Given the description of an element on the screen output the (x, y) to click on. 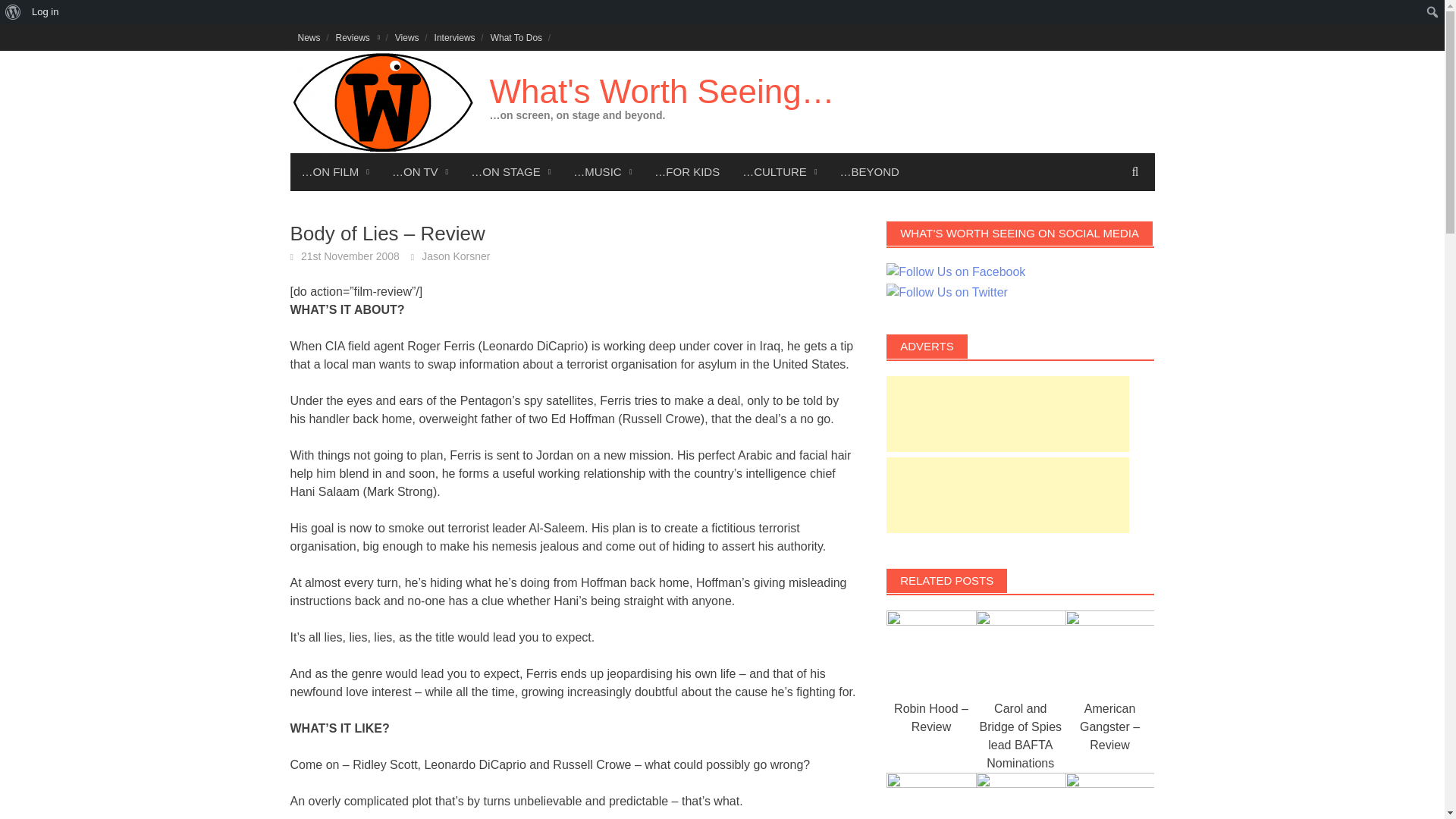
Reviews (358, 37)
What's Worth Seeing on Facebook (955, 271)
What To Dos (516, 37)
What's Worth Seeing on Twitter (946, 292)
Search (15, 12)
Interviews (454, 37)
News (308, 37)
Log in (45, 12)
Views (406, 37)
